Given the description of an element on the screen output the (x, y) to click on. 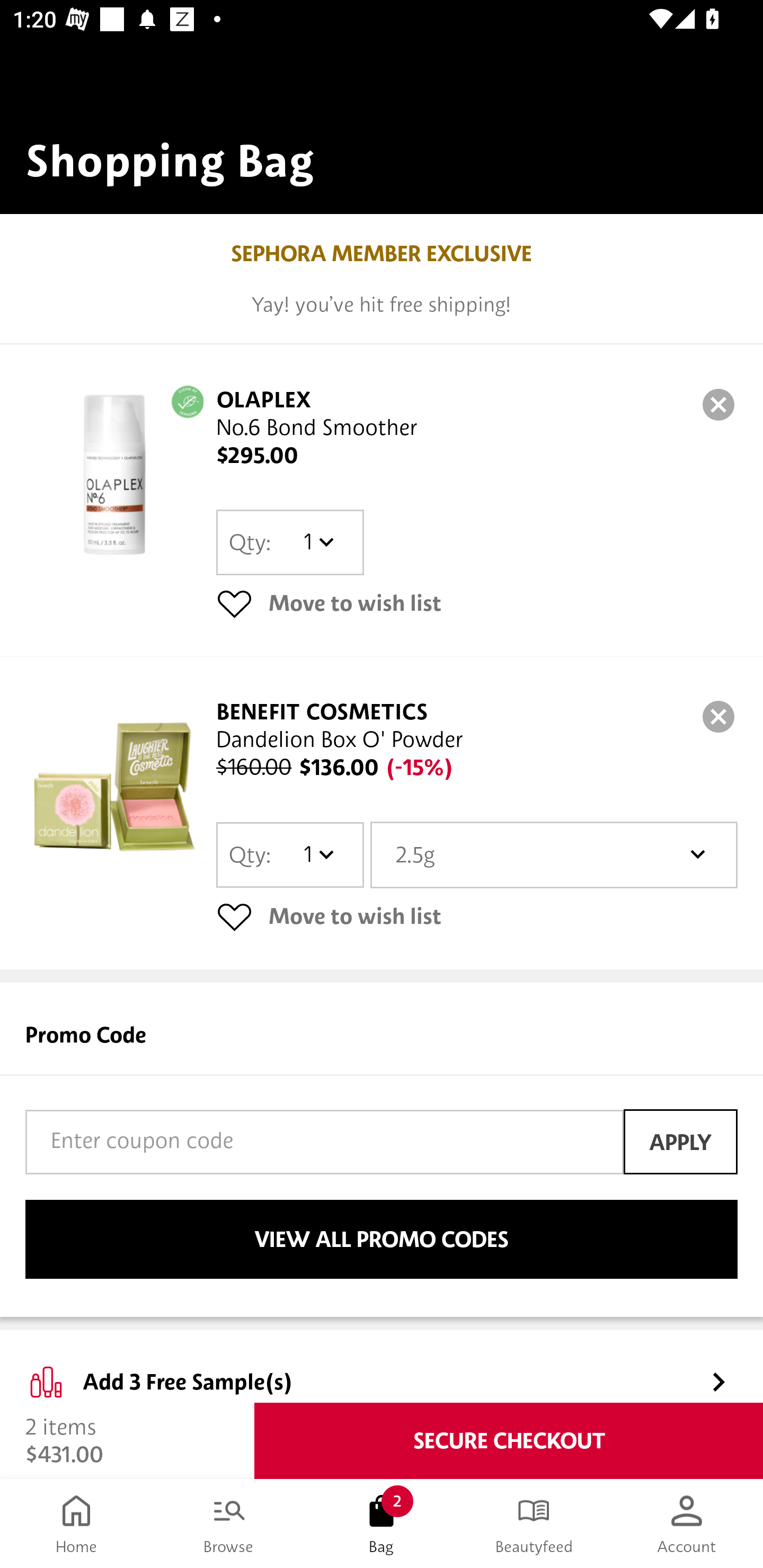
1 (317, 542)
Move to wish list (476, 602)
2.5g (553, 854)
1 (317, 854)
Move to wish list (476, 916)
APPLY (680, 1141)
Enter coupon code (324, 1142)
VIEW ALL PROMO CODES (381, 1239)
Add 3 Free Sample(s) (381, 1366)
SECURE CHECKOUT (508, 1440)
Home (76, 1523)
Browse (228, 1523)
Beautyfeed (533, 1523)
Account (686, 1523)
